Given the description of an element on the screen output the (x, y) to click on. 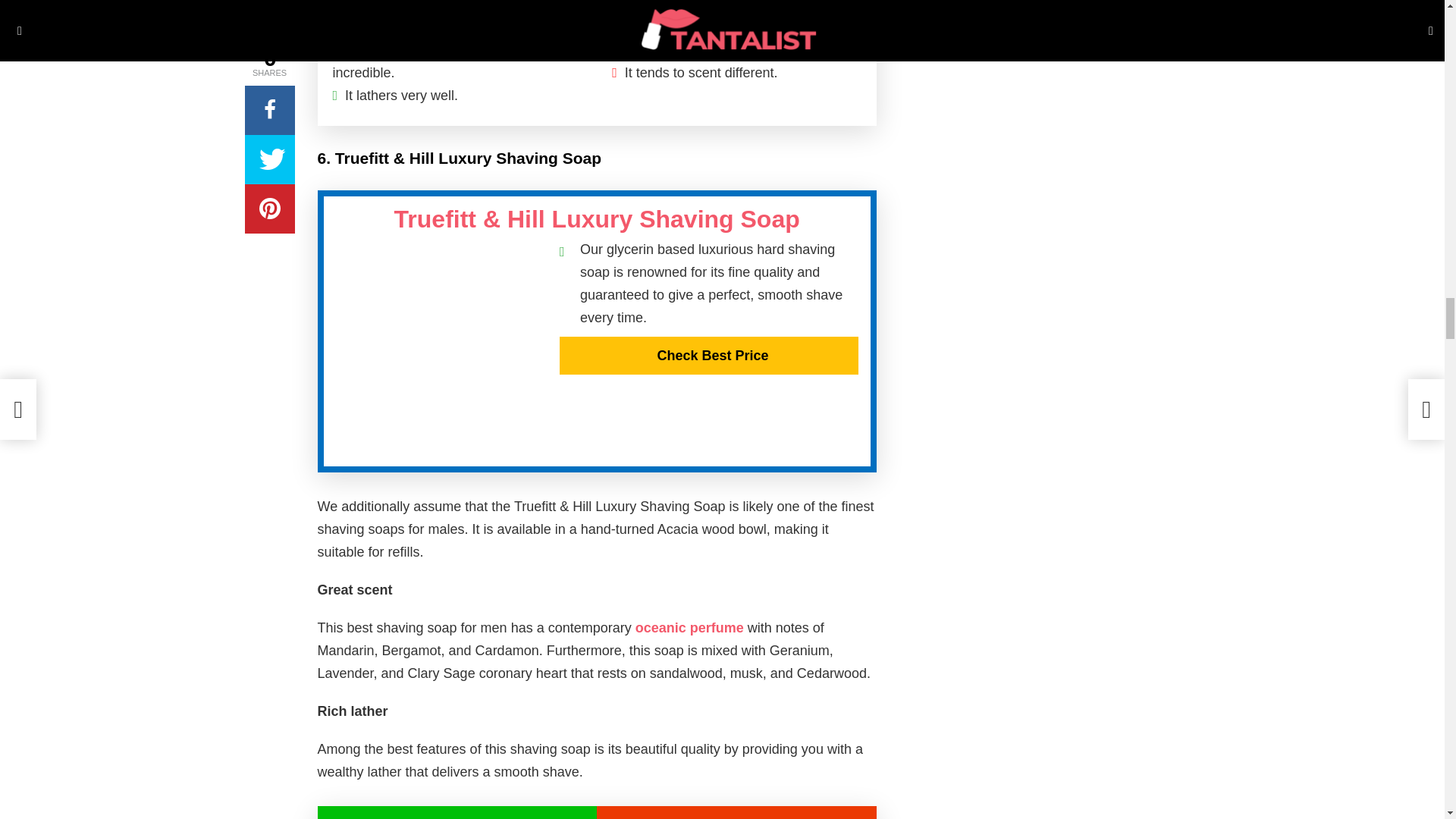
Check Best Price (709, 355)
oceanic perfume (689, 627)
